Given the description of an element on the screen output the (x, y) to click on. 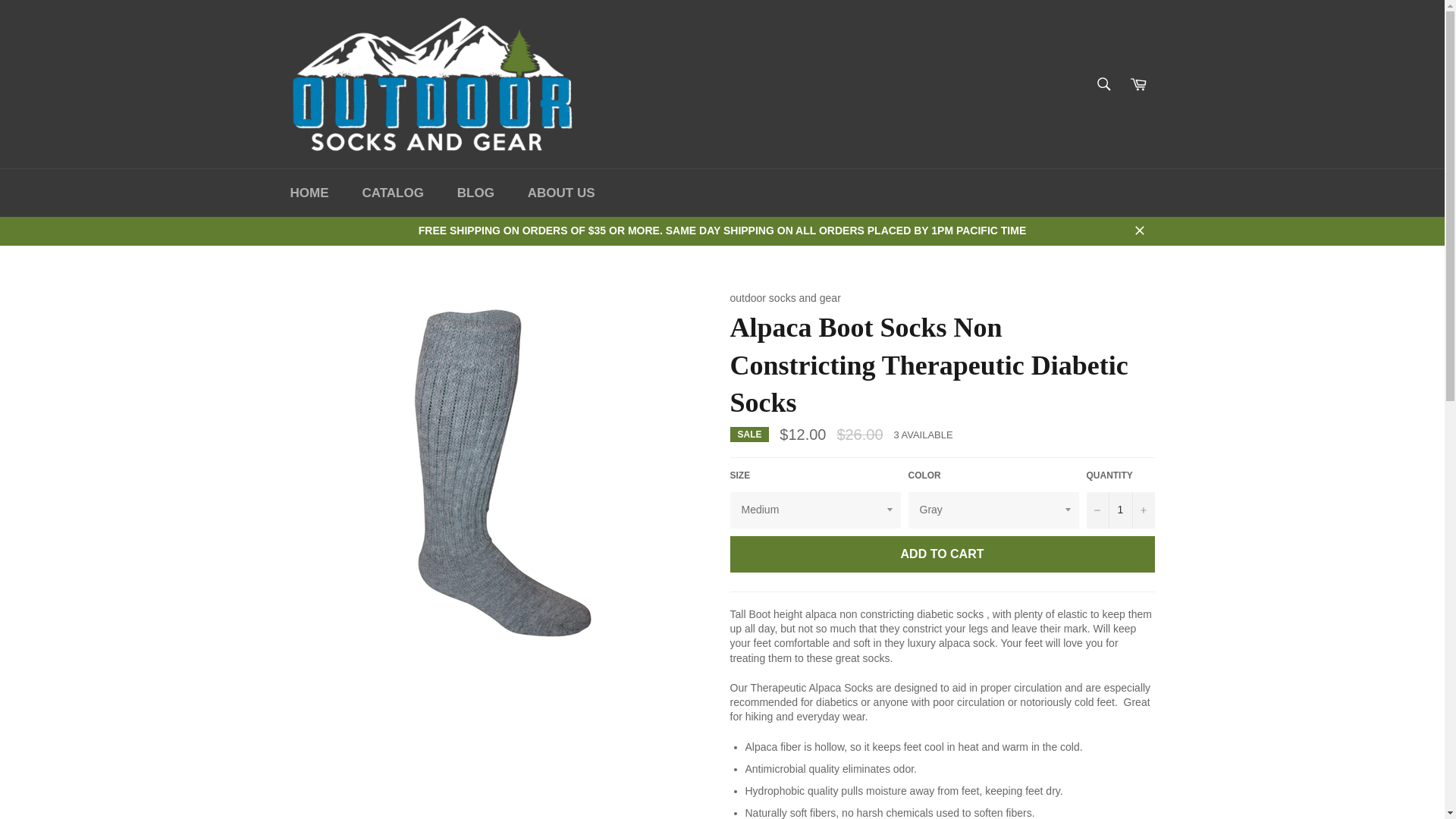
CATALOG (392, 192)
HOME (309, 192)
BLOG (475, 192)
ABOUT US (561, 192)
Close (1139, 230)
Cart (1138, 83)
Search (1103, 83)
ADD TO CART (941, 554)
1 (1120, 510)
